Given the description of an element on the screen output the (x, y) to click on. 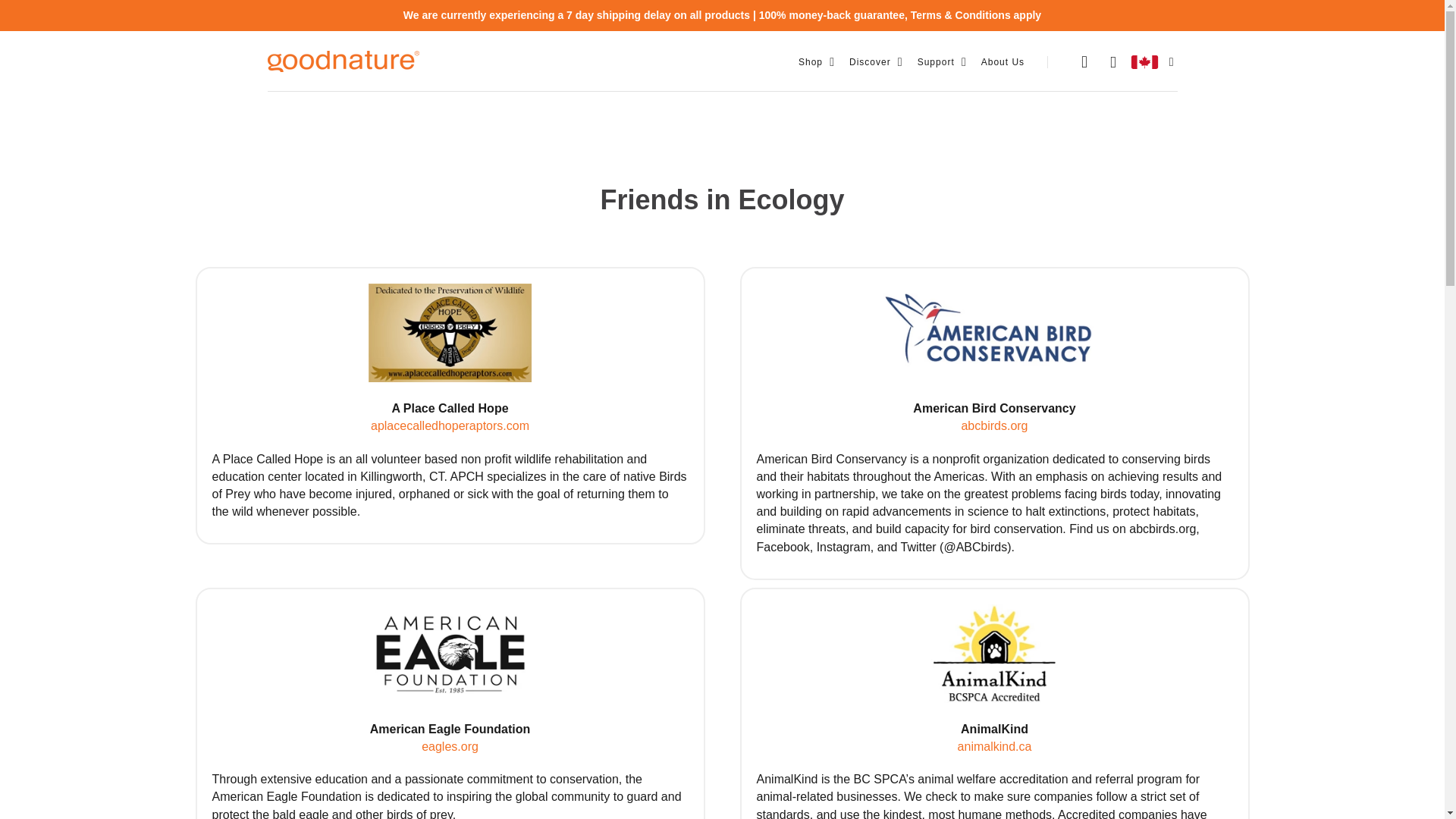
Discover (869, 61)
Shop (809, 61)
Support (936, 61)
About Us (1003, 61)
